Given the description of an element on the screen output the (x, y) to click on. 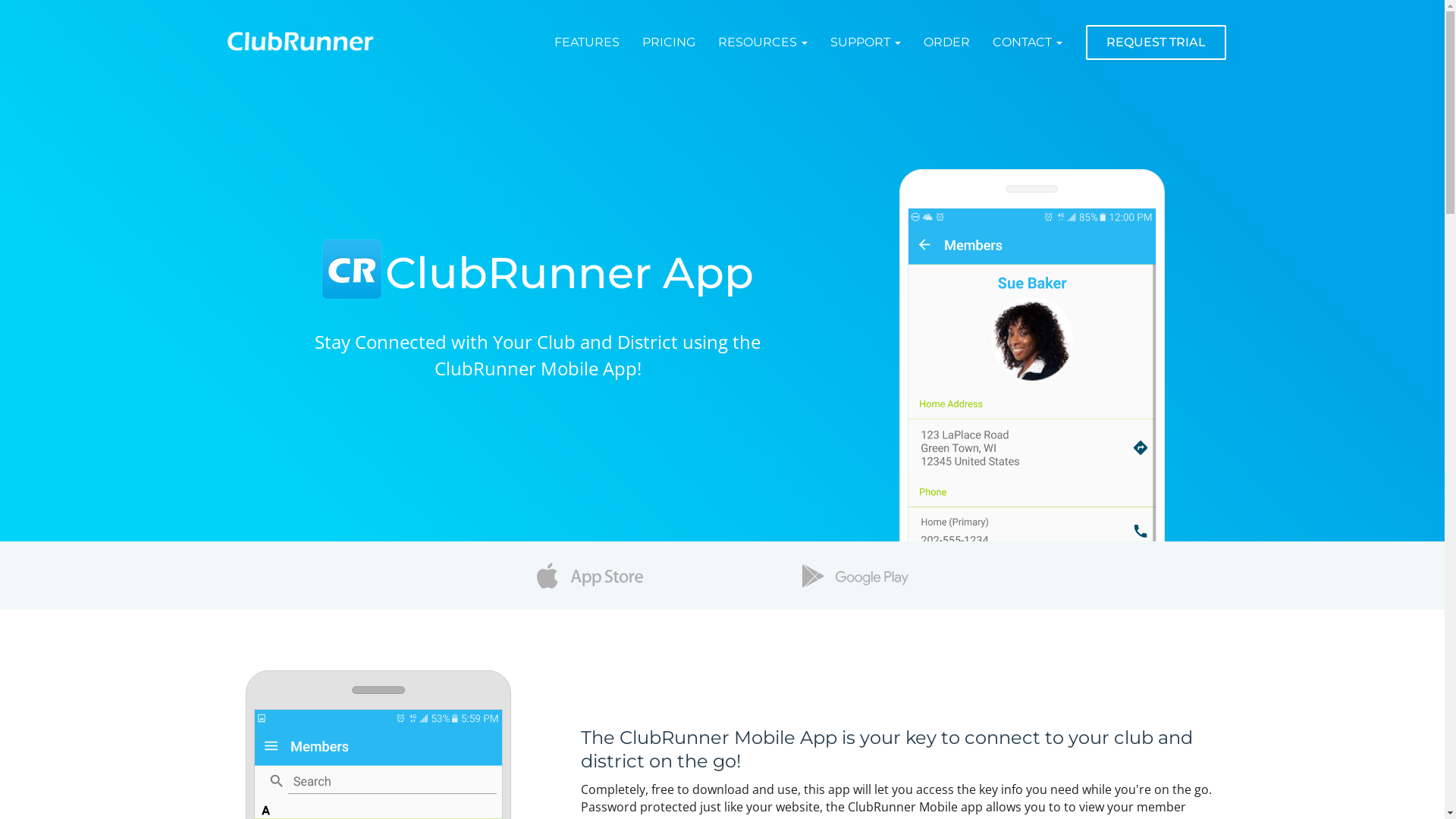
CONTACT Element type: text (1027, 42)
PRICING Element type: text (668, 42)
  Element type: text (588, 575)
SUPPORT Element type: text (865, 42)
FEATURES Element type: text (586, 42)
ORDER Element type: text (945, 42)
REQUEST TRIAL Element type: text (1155, 42)
  Element type: text (854, 575)
RESOURCES Element type: text (762, 42)
Home Element type: hover (531, 42)
